Given the description of an element on the screen output the (x, y) to click on. 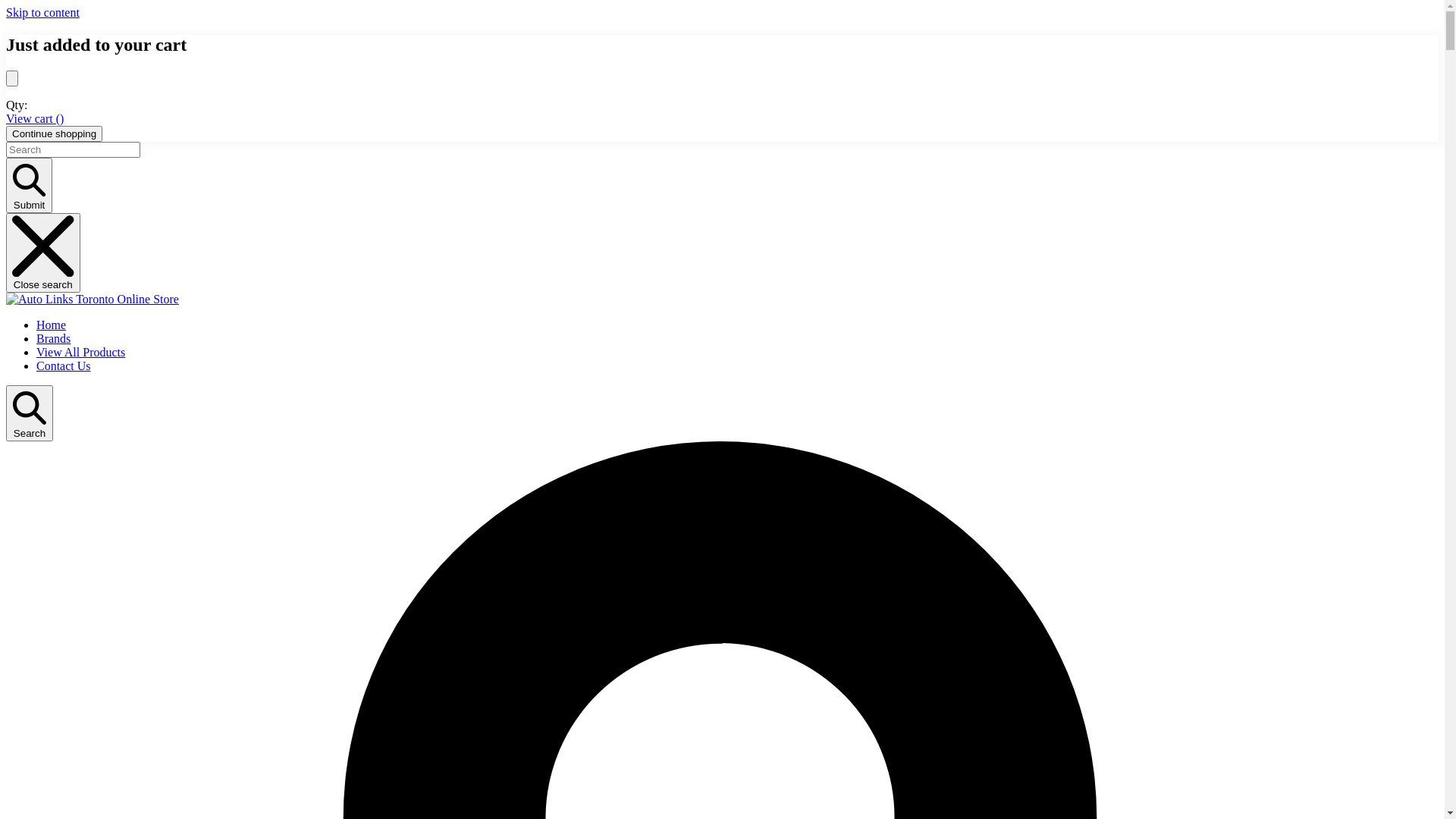
Search Element type: text (29, 413)
Close search Element type: text (43, 253)
View cart () Element type: text (34, 118)
Contact Us Element type: text (63, 365)
Continue shopping Element type: text (54, 133)
Submit Element type: text (29, 185)
Brands Element type: text (53, 338)
Skip to content Element type: text (42, 12)
Home Element type: text (50, 324)
View All Products Element type: text (80, 351)
